Given the description of an element on the screen output the (x, y) to click on. 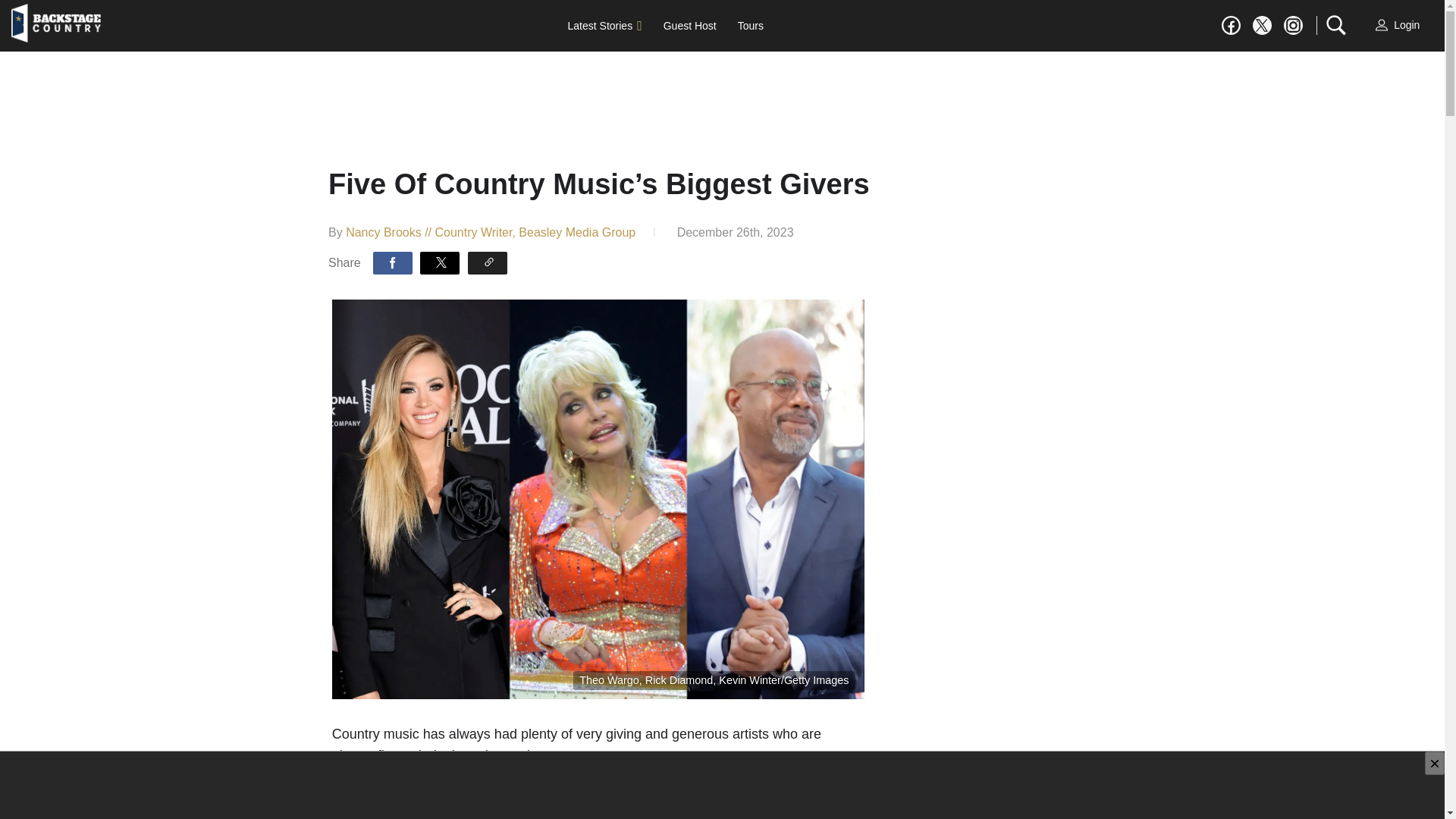
Close AdCheckmark indicating ad close (1434, 763)
Latest Stories (604, 25)
Login (1397, 25)
Tours (750, 25)
Guest Host (689, 25)
